Given the description of an element on the screen output the (x, y) to click on. 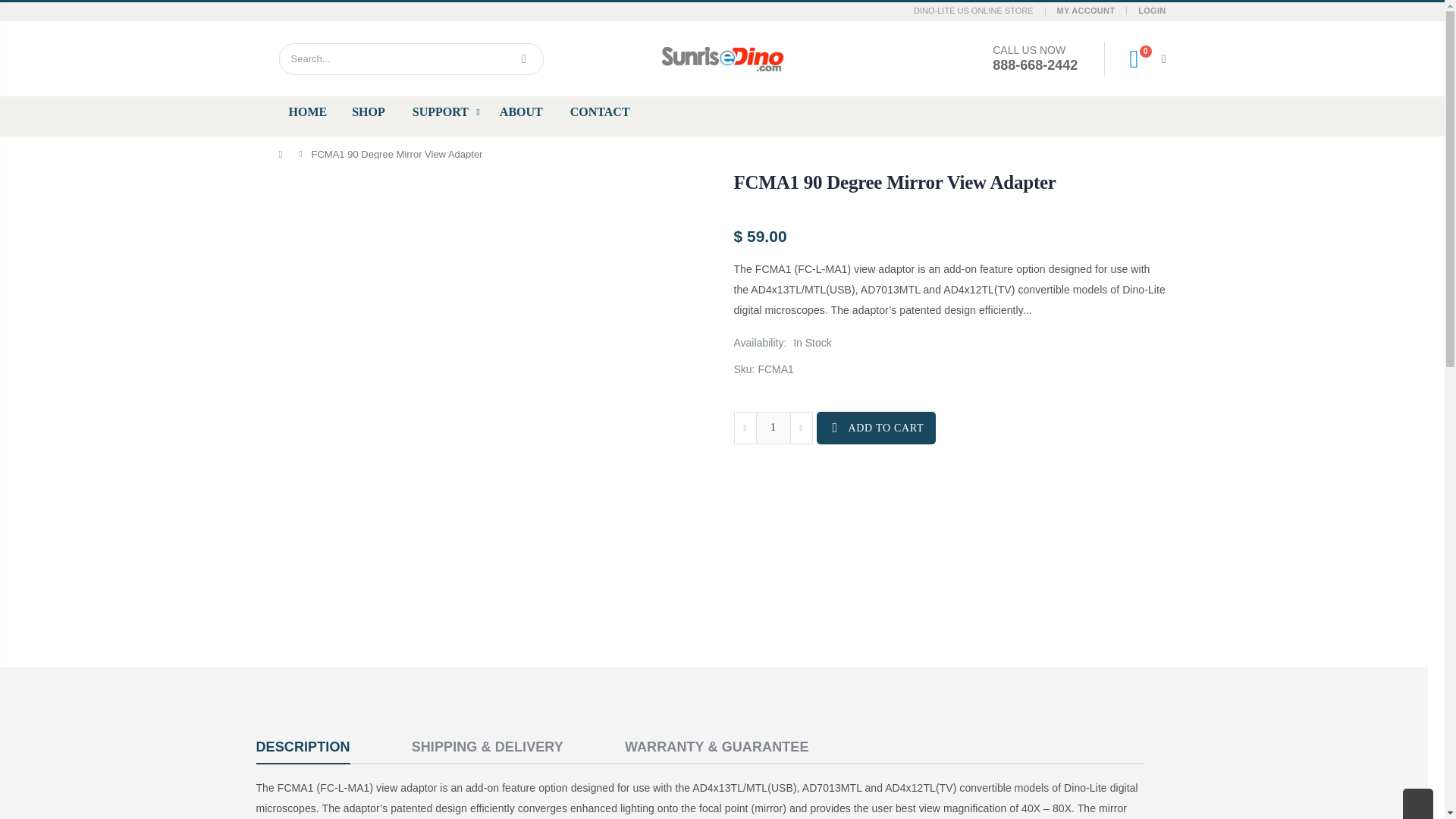
CONTACT (602, 111)
DESCRIPTION (303, 747)
MY ACCOUNT (1086, 10)
ADD TO CART (875, 427)
0 (1141, 58)
Search (523, 59)
Home (284, 153)
1 (772, 427)
ABOUT (523, 111)
Back to the frontpage (284, 153)
